Given the description of an element on the screen output the (x, y) to click on. 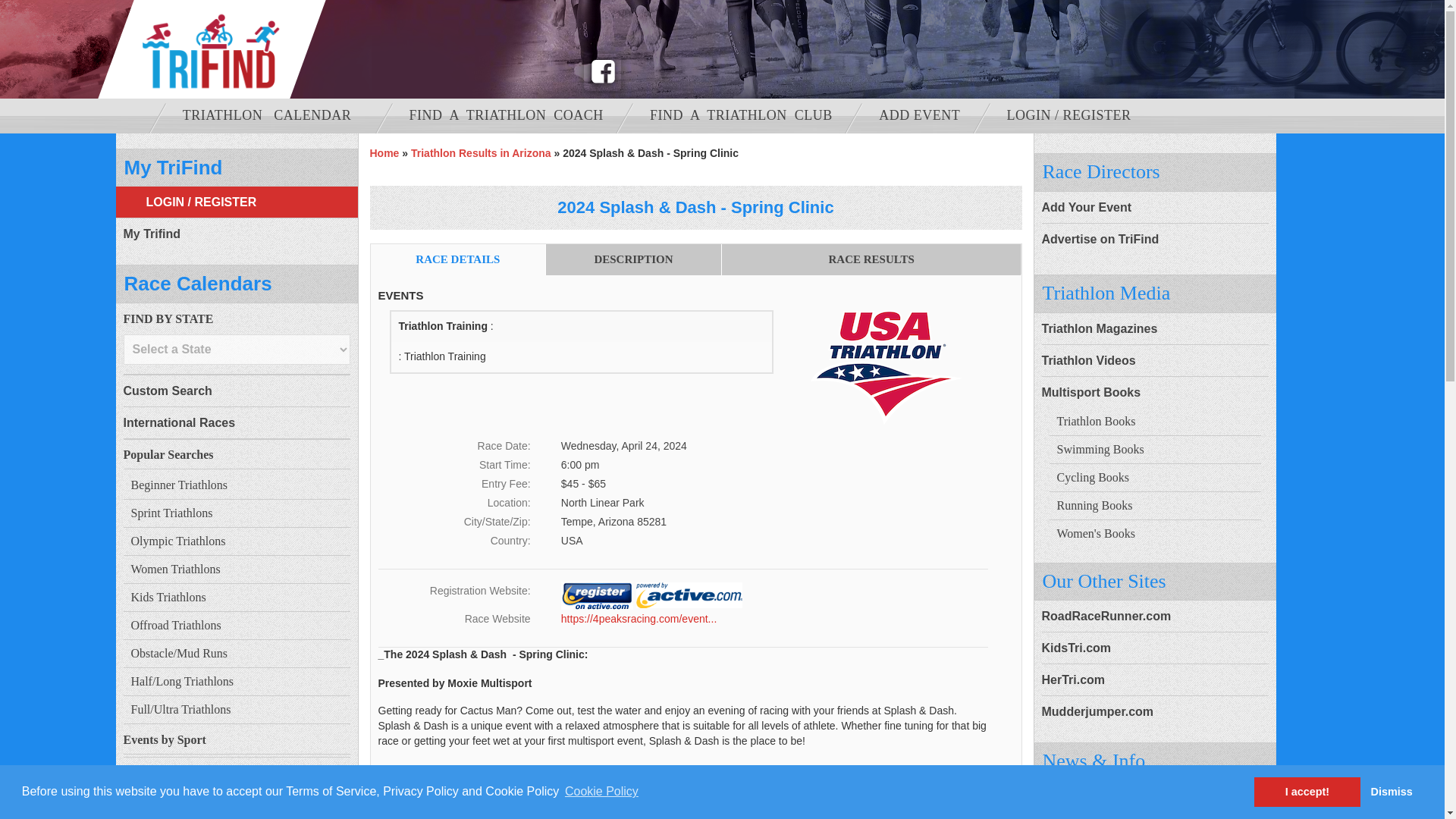
Dismiss (1390, 791)
Cookie Policy (601, 791)
I accept! (1306, 791)
TRIATHLON   CALENDAR (272, 115)
